Given the description of an element on the screen output the (x, y) to click on. 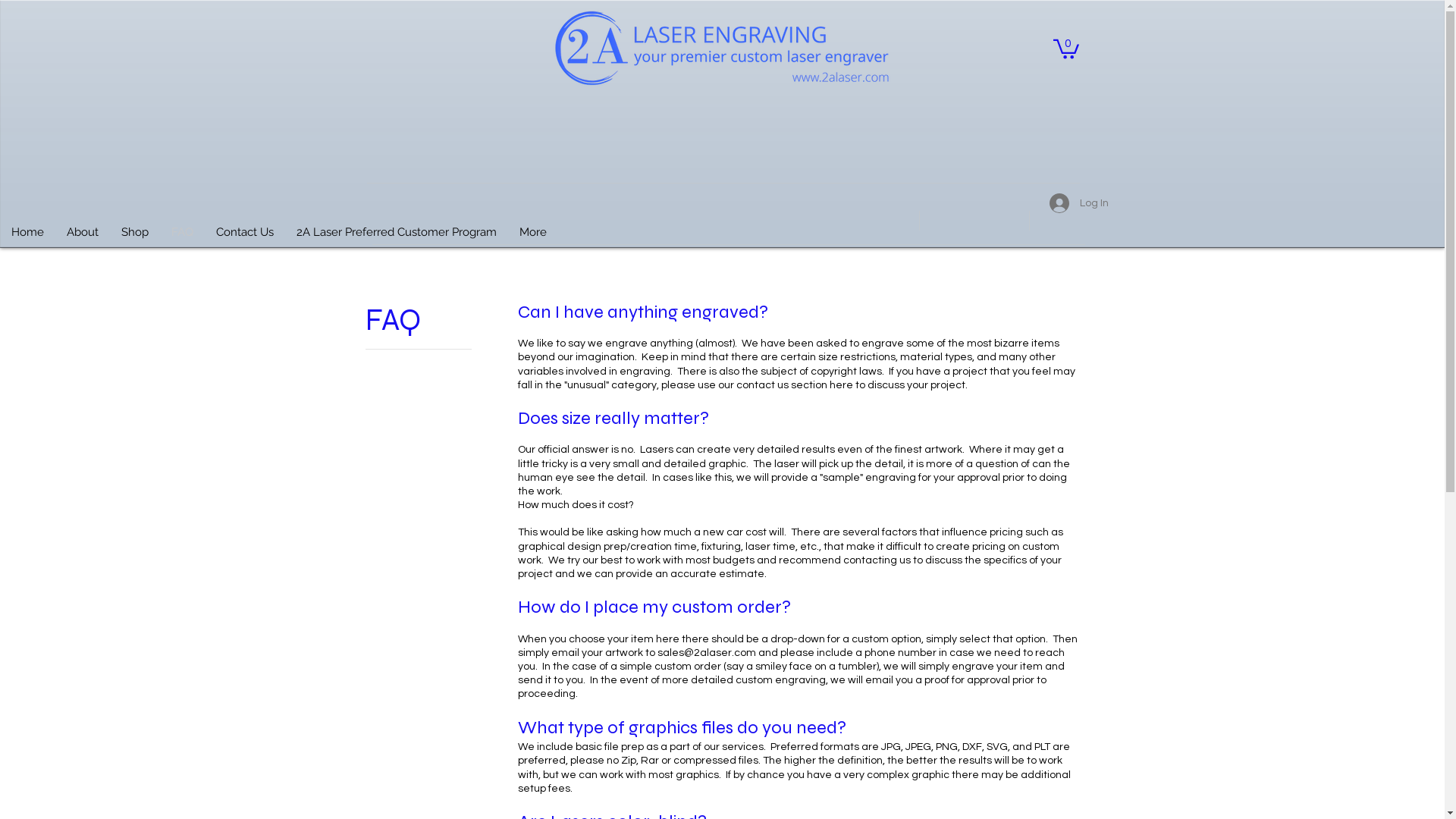
Shop Element type: text (134, 236)
Contact Us Element type: text (244, 236)
sales@2alaser.com Element type: text (705, 652)
0 Element type: text (1065, 48)
2A Laser Preferred Customer Program Element type: text (396, 236)
Home Element type: text (27, 236)
FAQ Element type: text (182, 236)
About Element type: text (82, 236)
Log In Element type: text (1078, 202)
